Given the description of an element on the screen output the (x, y) to click on. 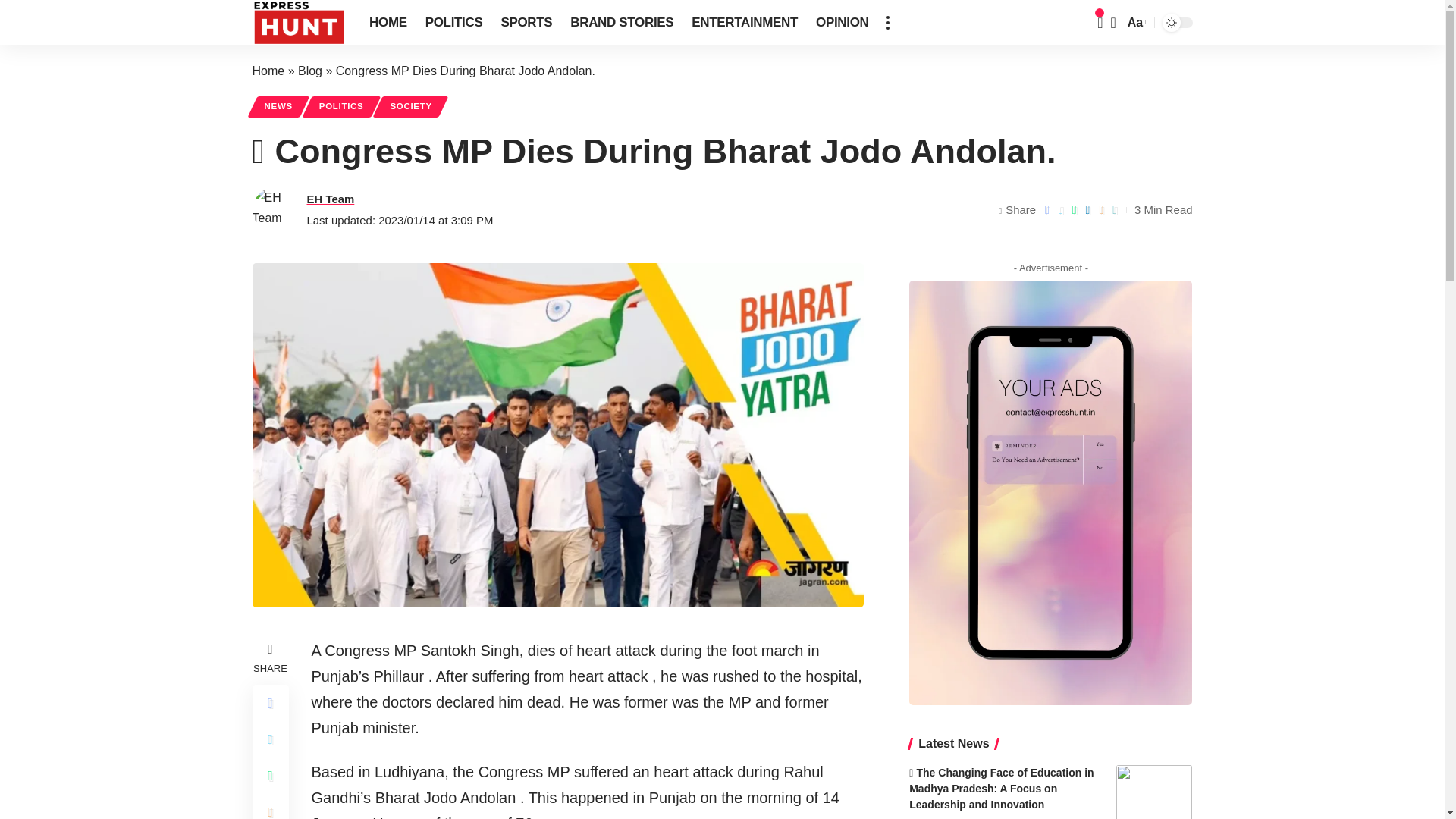
OPINION (841, 22)
BRAND STORIES (621, 22)
Express Hunt (298, 22)
ENTERTAINMENT (744, 22)
SPORTS (526, 22)
POLITICS (454, 22)
Aa (1135, 22)
HOME (387, 22)
